Given the description of an element on the screen output the (x, y) to click on. 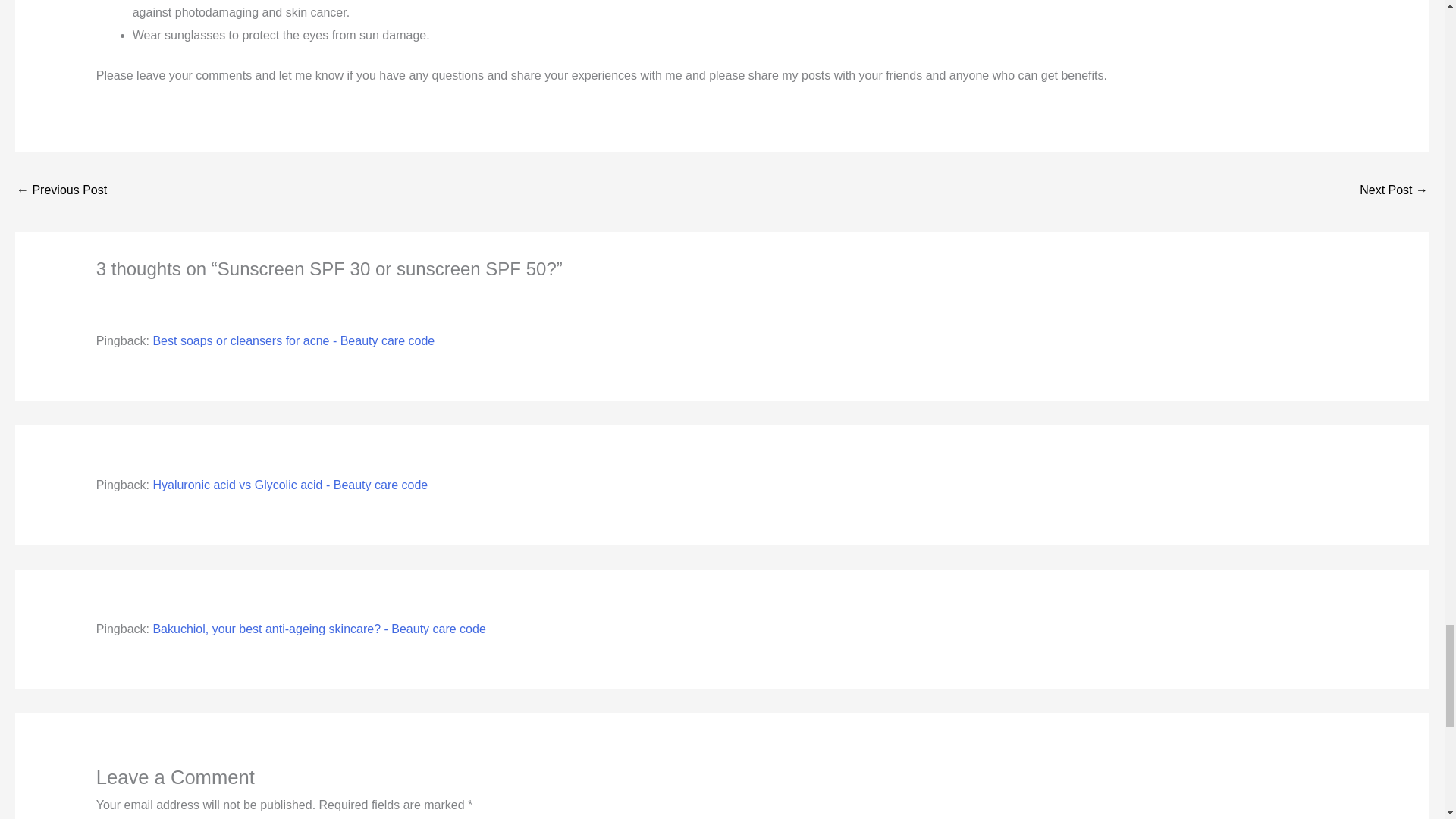
How to soothe hand itching and dryness naturally? (61, 191)
Best soaps or cleansers for acne - Beauty care code (292, 340)
Hyaluronic acid vs Glycolic acid - Beauty care code (290, 484)
